Given the description of an element on the screen output the (x, y) to click on. 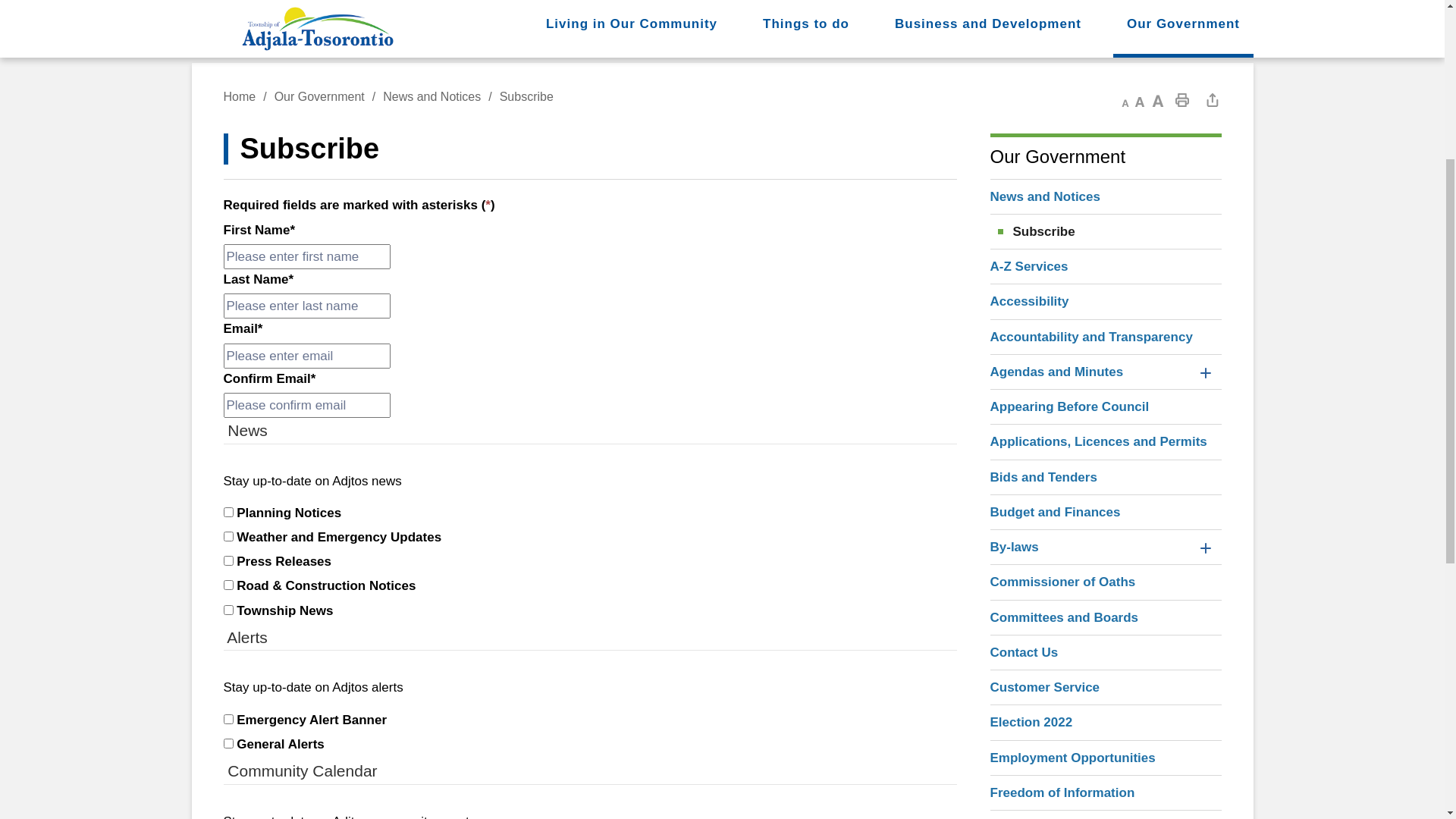
Accessibility Element type: text (1105, 600)
Bids and Tenders Element type: text (1105, 776)
Share this page Element type: hover (1211, 398)
Things to do Element type: text (805, 333)
Print this page Element type: text (1181, 398)
Accountability and Transparency Element type: text (1105, 636)
Decrease text size Element type: text (1120, 398)
Agendas and Minutes Element type: text (1088, 671)
Living in Our Community Element type: text (631, 333)
Applications, Licences and Permits Element type: text (1105, 741)
A-Z Services Element type: text (1105, 566)
Our Government Element type: text (1182, 333)
Appearing Before Council Element type: text (1105, 706)
Default text size Element type: text (1138, 398)
Business and Development Element type: text (987, 333)
Subscribe Element type: text (1105, 531)
Home Element type: text (247, 395)
Adjala-Tosorontio Element type: hover (722, 207)
Skip to Content Element type: text (0, 299)
News and Notices Element type: text (1105, 496)
Our Government Element type: text (328, 395)
Increase text size Element type: text (1156, 398)
News and Notices Element type: text (440, 395)
